Given the description of an element on the screen output the (x, y) to click on. 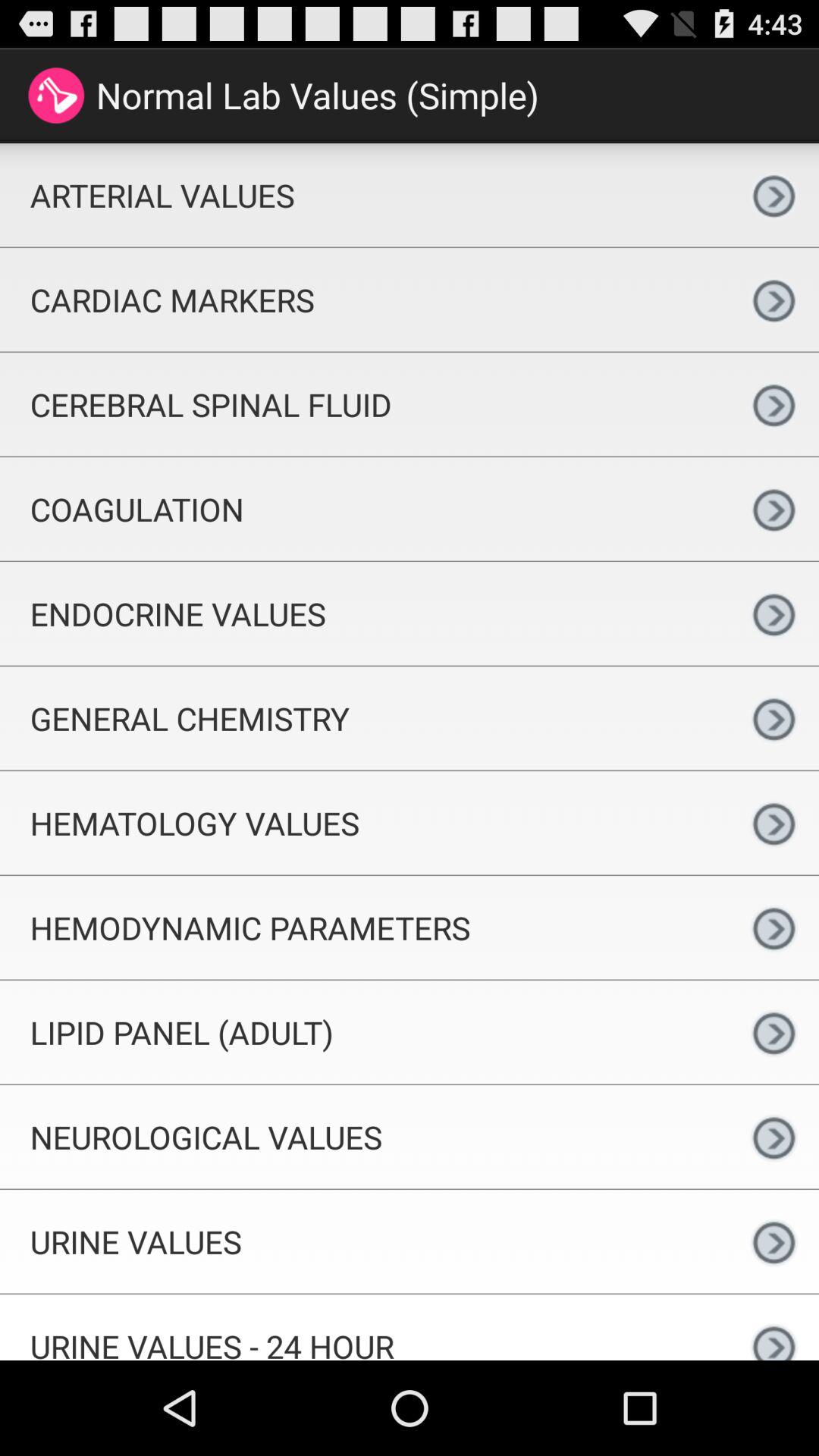
choose the item below coagulation (364, 613)
